Given the description of an element on the screen output the (x, y) to click on. 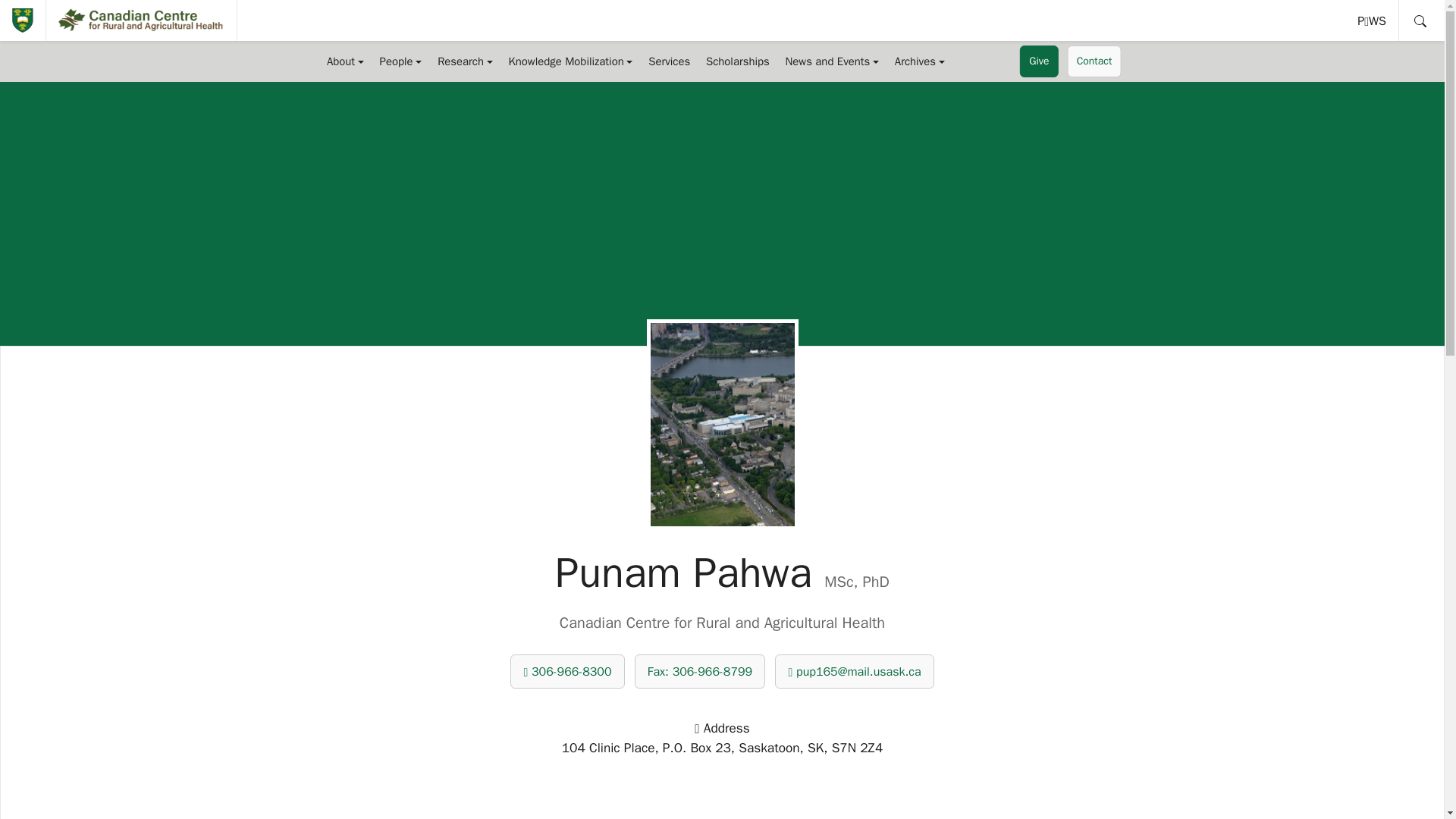
Knowledge Mobilization (570, 60)
306-966-8300 (567, 671)
News and Events (831, 60)
Give (1039, 60)
Scholarships (1372, 20)
People (737, 60)
Services (400, 60)
PAWS (669, 60)
About (1372, 20)
Fax: 306-966-8799 (344, 60)
Archives (699, 671)
Research (919, 60)
Contact (464, 60)
